Given the description of an element on the screen output the (x, y) to click on. 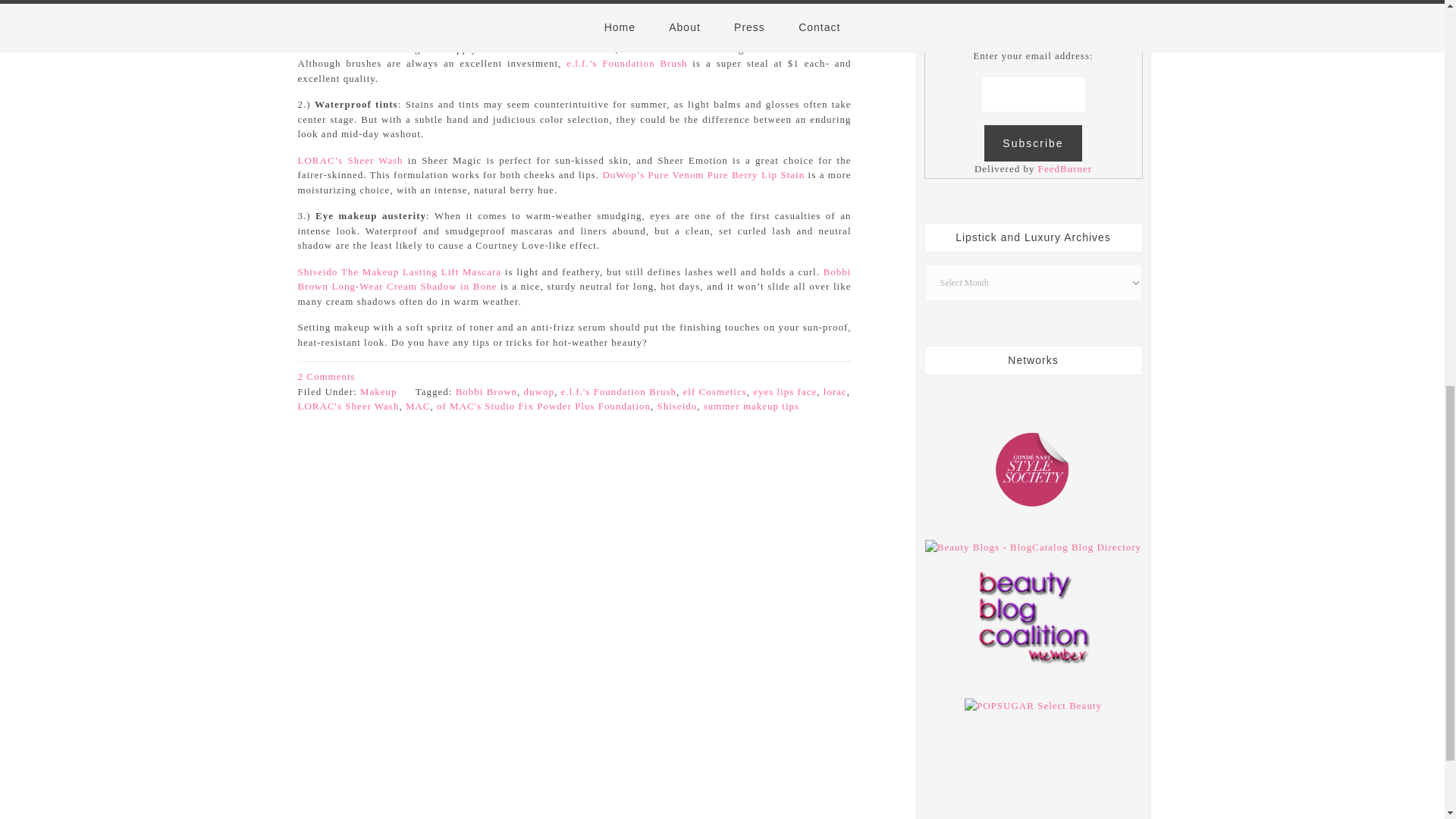
lorac (835, 390)
DuWop's Pure Venom Pure Berry Lip Stain (703, 174)
summer makeup tips (751, 405)
2 Comments (326, 376)
Shiseido (677, 405)
e.l.f.'s Foundation Brush (618, 390)
Beauty Blogs - BlogCatalog Blog Directory (1032, 546)
Subscribe (1032, 143)
Shiseido The Makeup Lasting Lift Mascara (398, 270)
Bobbi Brown Long-Wear Cream Shadow in Bone (573, 278)
e.l.f.'s Foundation Brush (626, 62)
Bobbi Brown (485, 390)
MAC (418, 405)
FeedBurner (1065, 168)
duwop (539, 390)
